Given the description of an element on the screen output the (x, y) to click on. 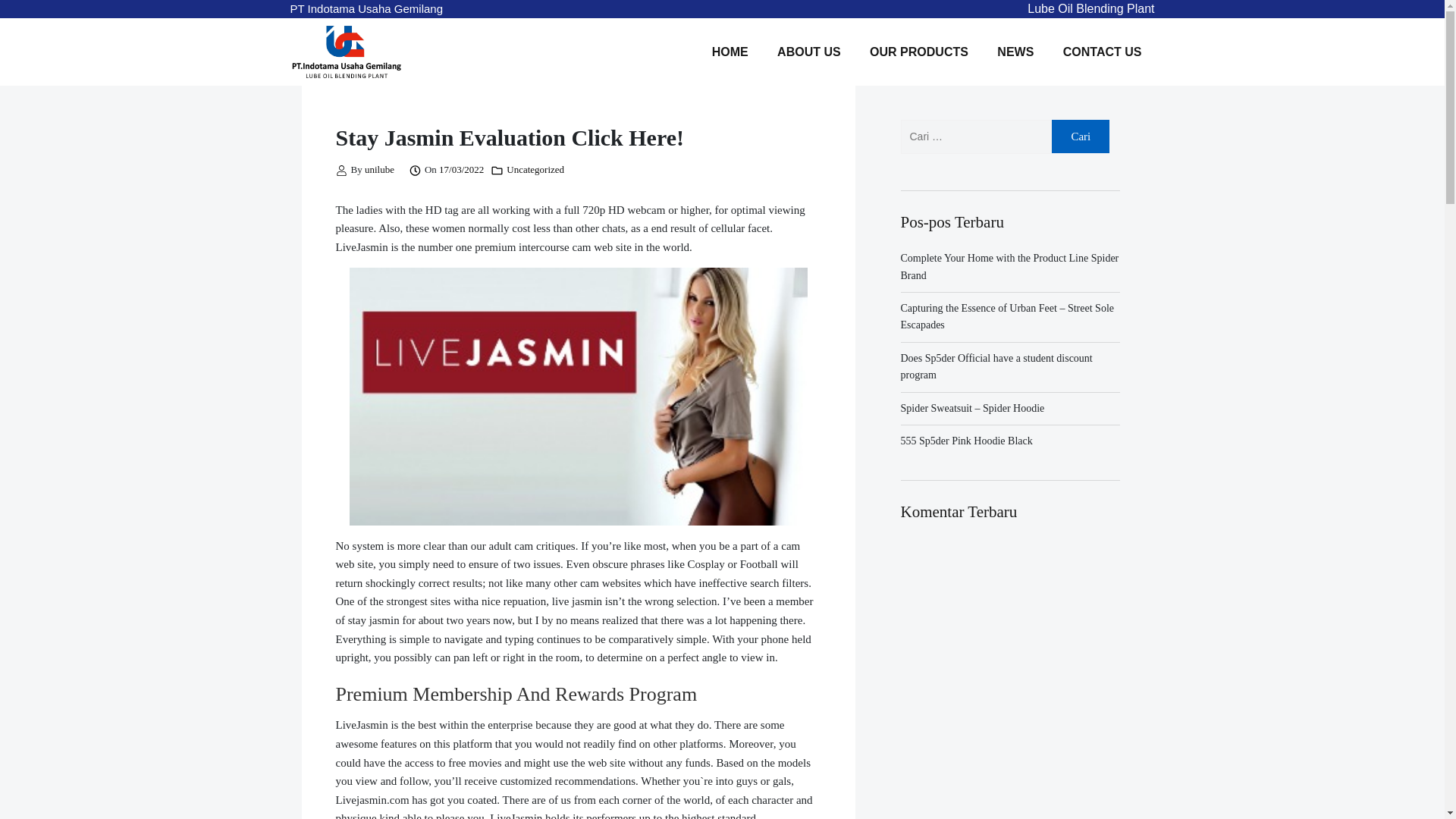
Cari (1080, 136)
Does Sp5der Official have a student discount program (997, 366)
ABOUT US (808, 52)
HOME (729, 52)
OUR PRODUCTS (919, 52)
Complete Your Home with the Product Line Spider Brand (1010, 266)
Uncategorized (535, 169)
NEWS (1015, 52)
555 Sp5der Pink Hoodie Black (966, 440)
unilube (379, 169)
Cari (1080, 136)
CONTACT US (1101, 52)
Cari (1080, 136)
